Given the description of an element on the screen output the (x, y) to click on. 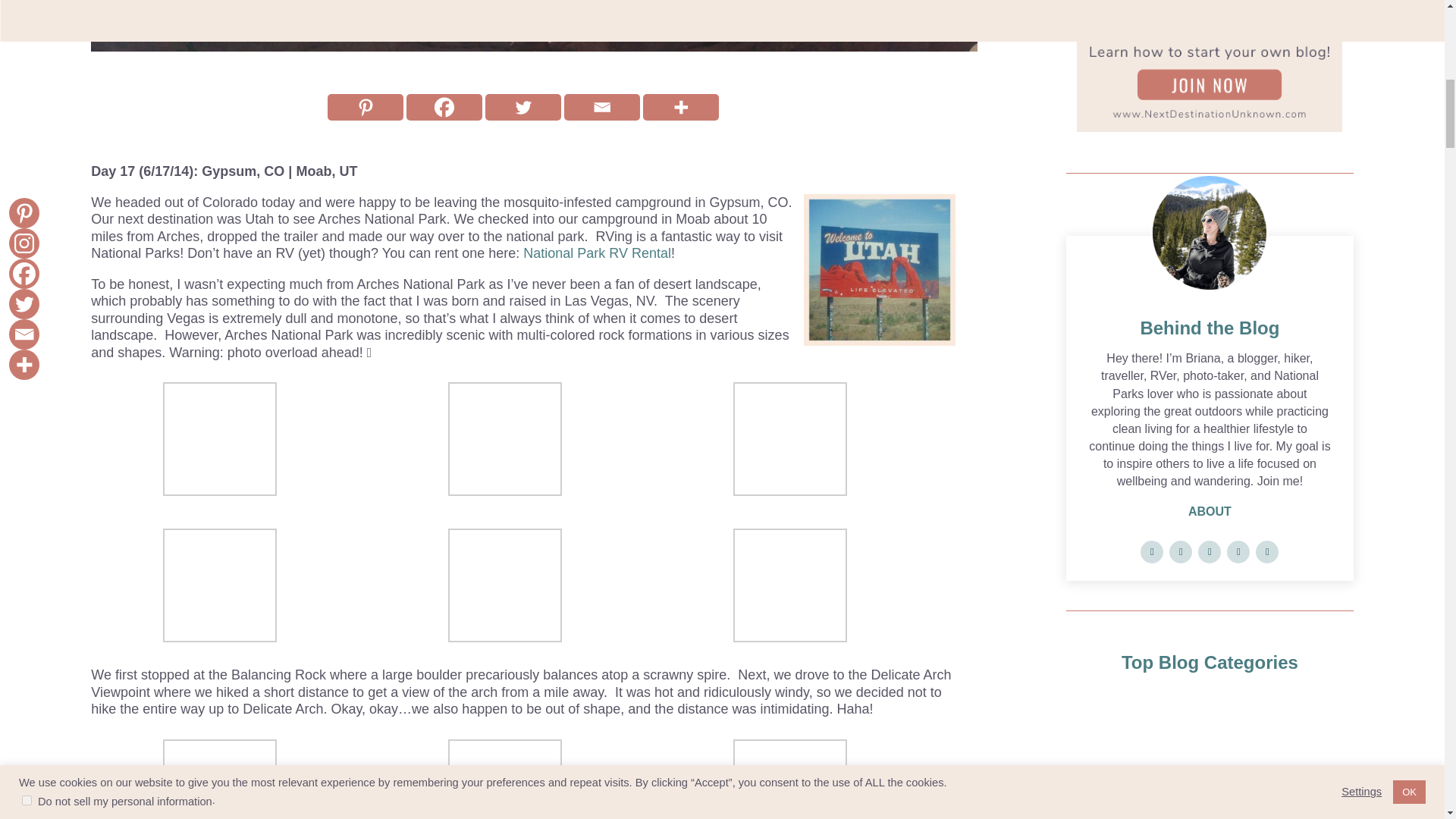
Twitter (522, 107)
Pinterest (365, 107)
Facebook (443, 107)
Email (602, 107)
More (681, 107)
